Given the description of an element on the screen output the (x, y) to click on. 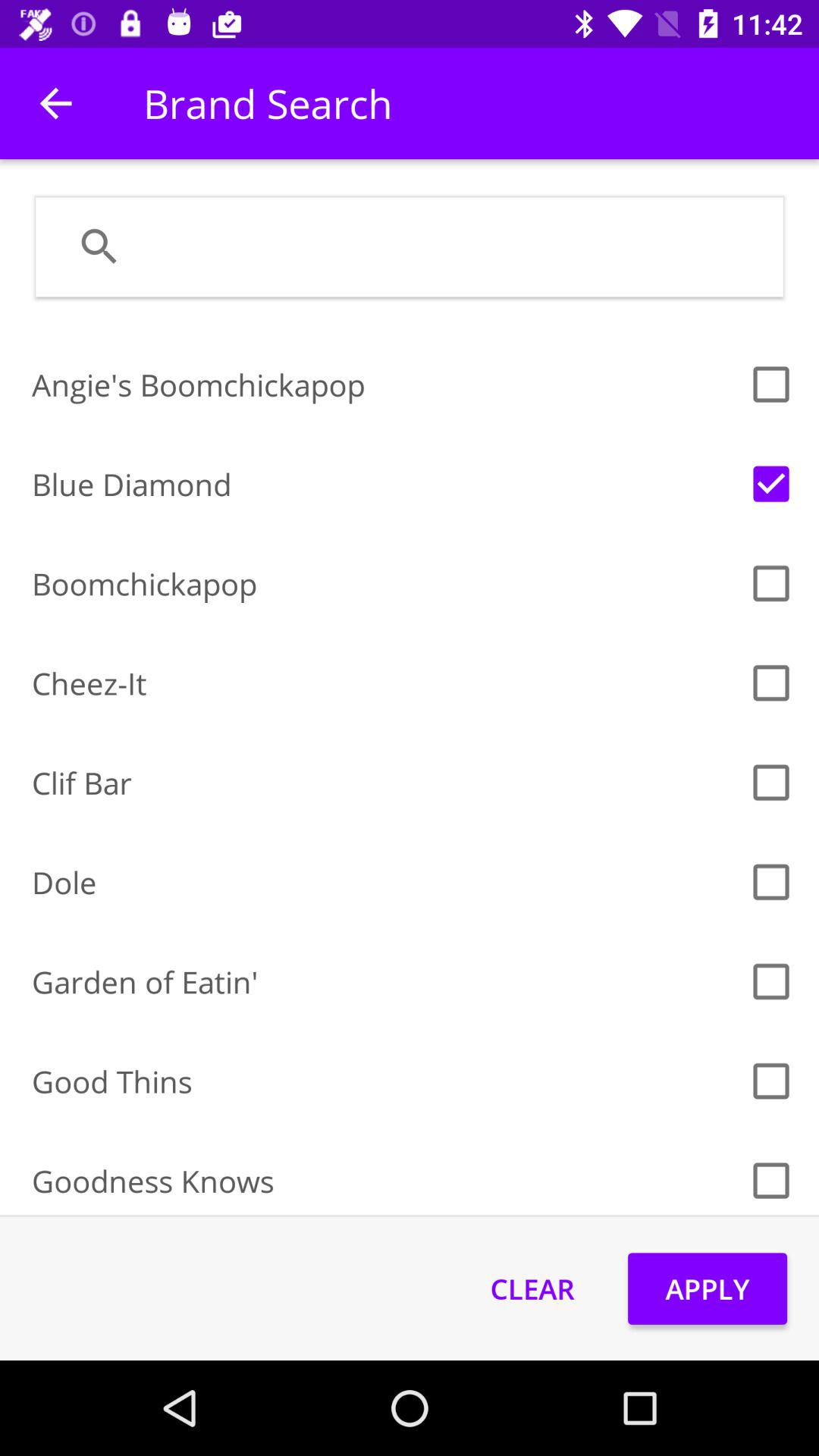
go back (55, 103)
